Given the description of an element on the screen output the (x, y) to click on. 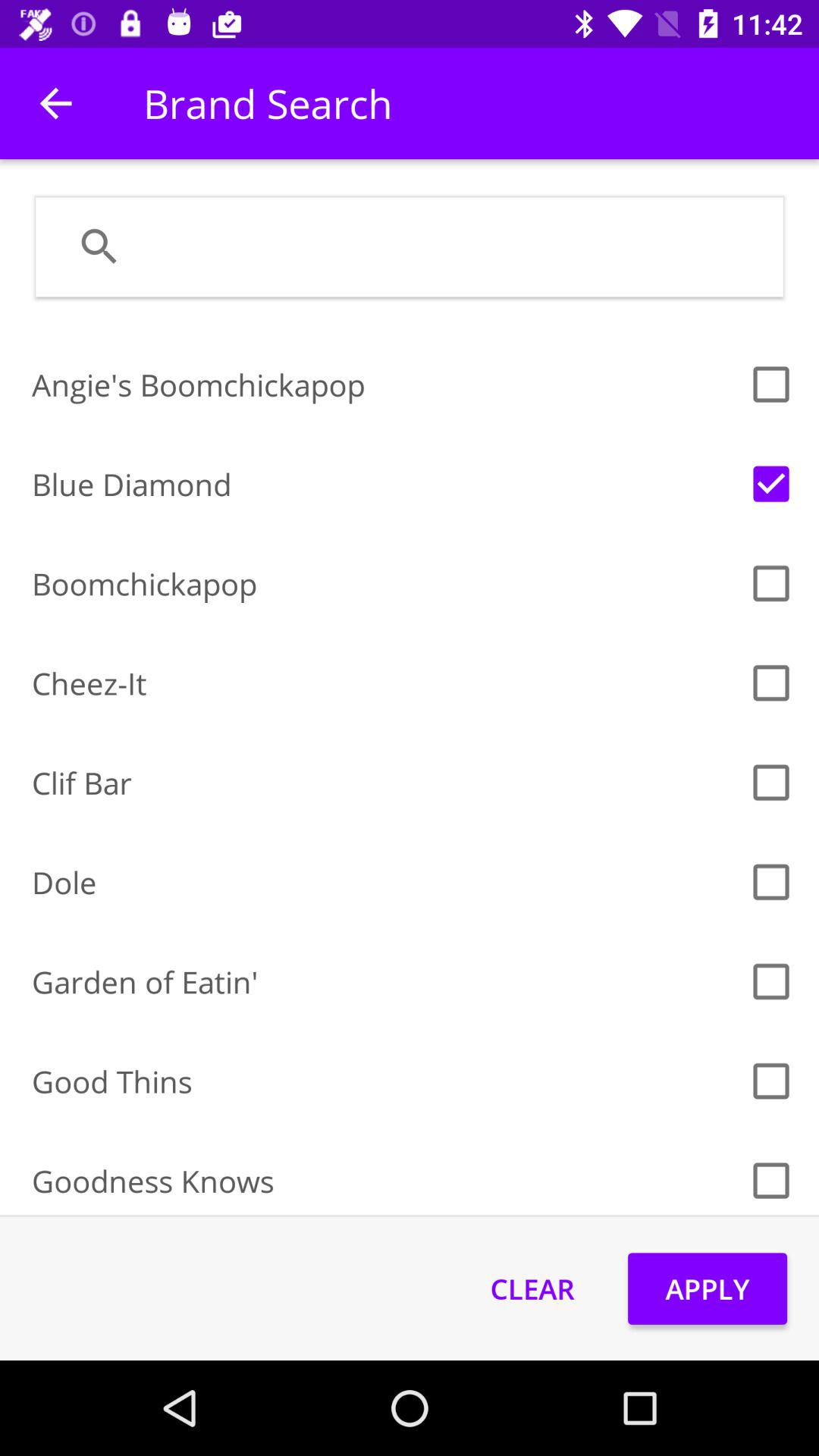
go back (55, 103)
